Given the description of an element on the screen output the (x, y) to click on. 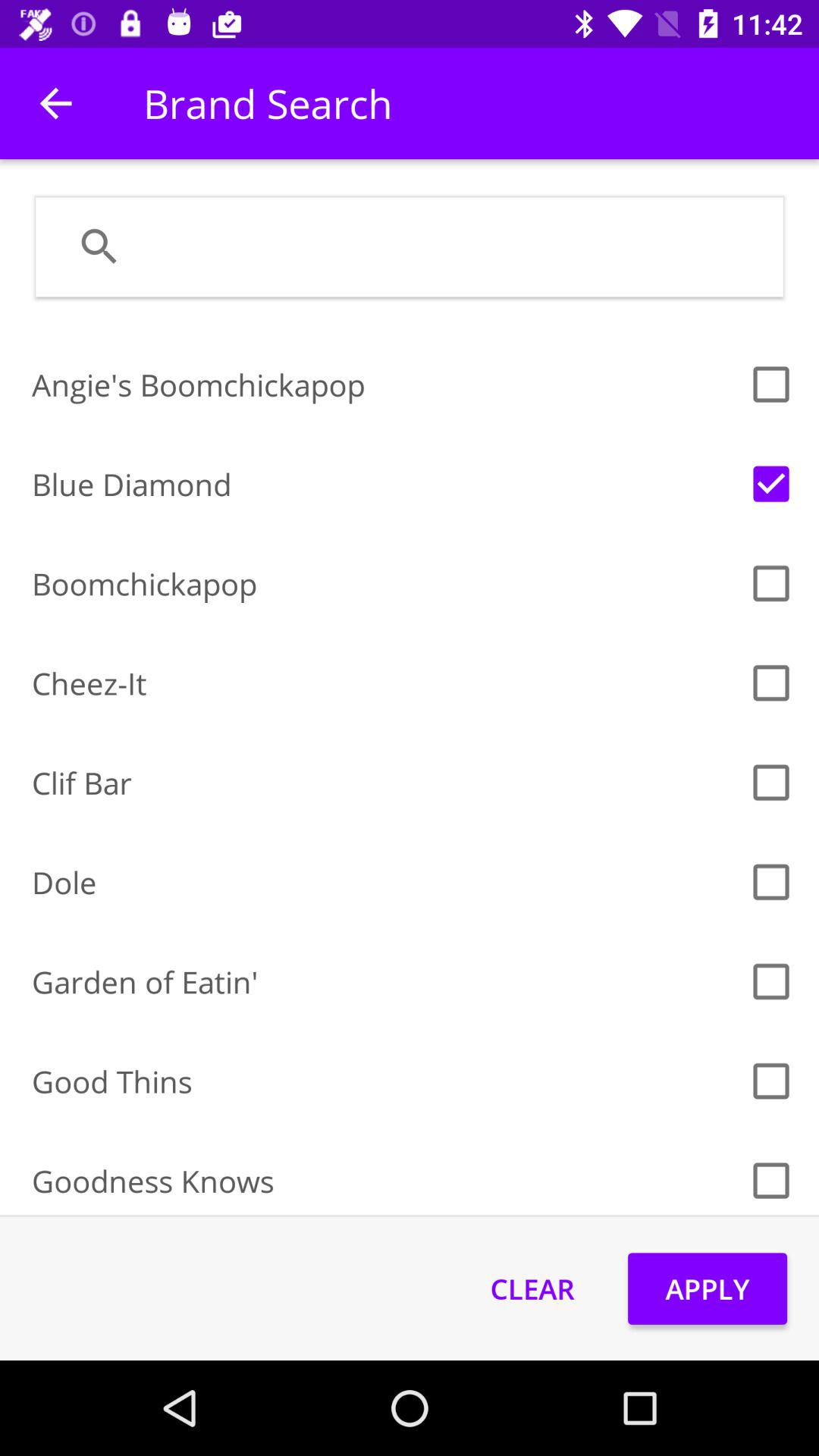
go back (55, 103)
